Given the description of an element on the screen output the (x, y) to click on. 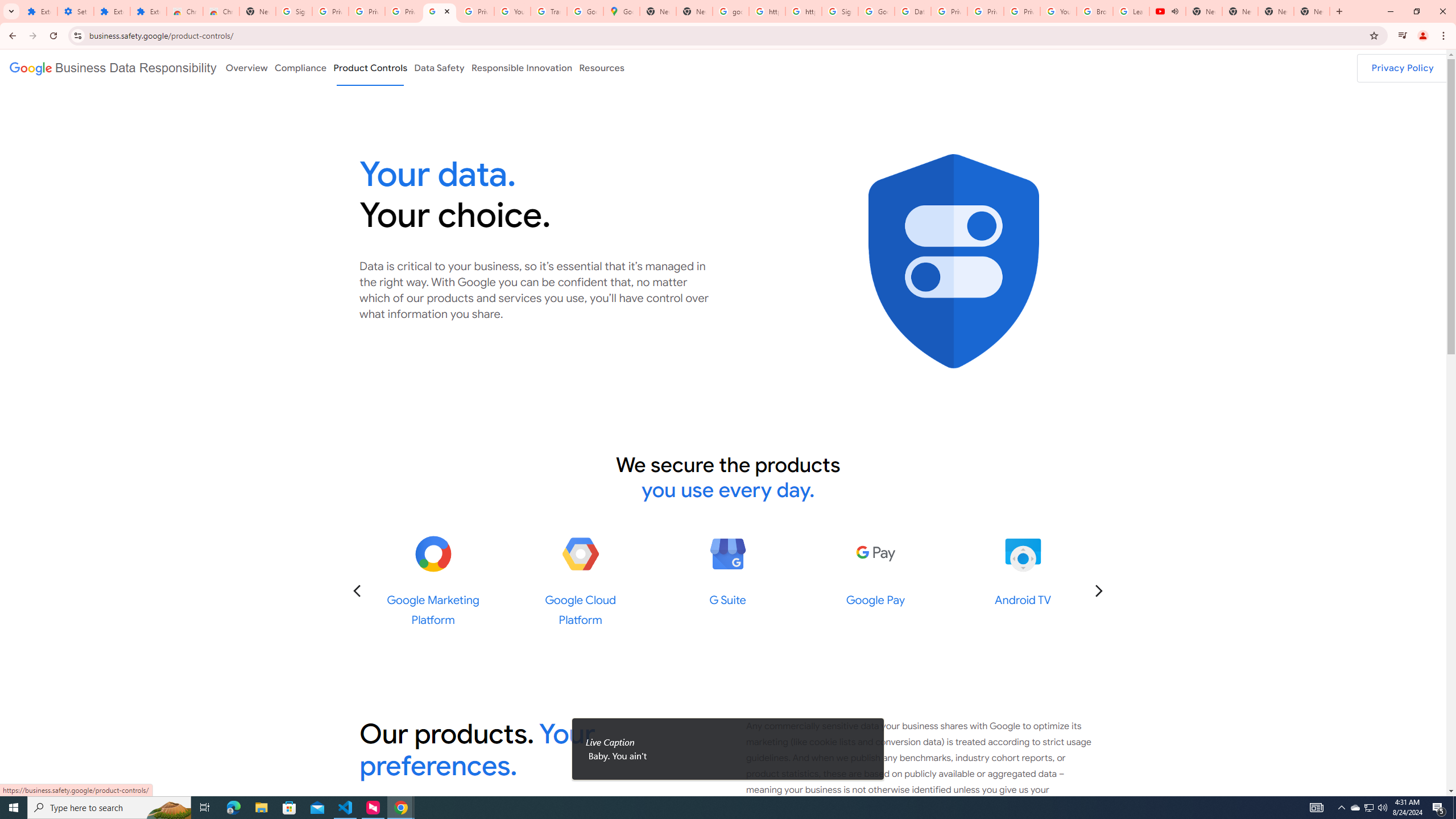
Android TV (1022, 554)
Product Controls (370, 67)
Control your music, videos, and more (1402, 35)
Extensions (111, 11)
Privacy Help Center - Policies Help (949, 11)
Data Safety (438, 67)
Google Marketing Platform (432, 554)
